Given the description of an element on the screen output the (x, y) to click on. 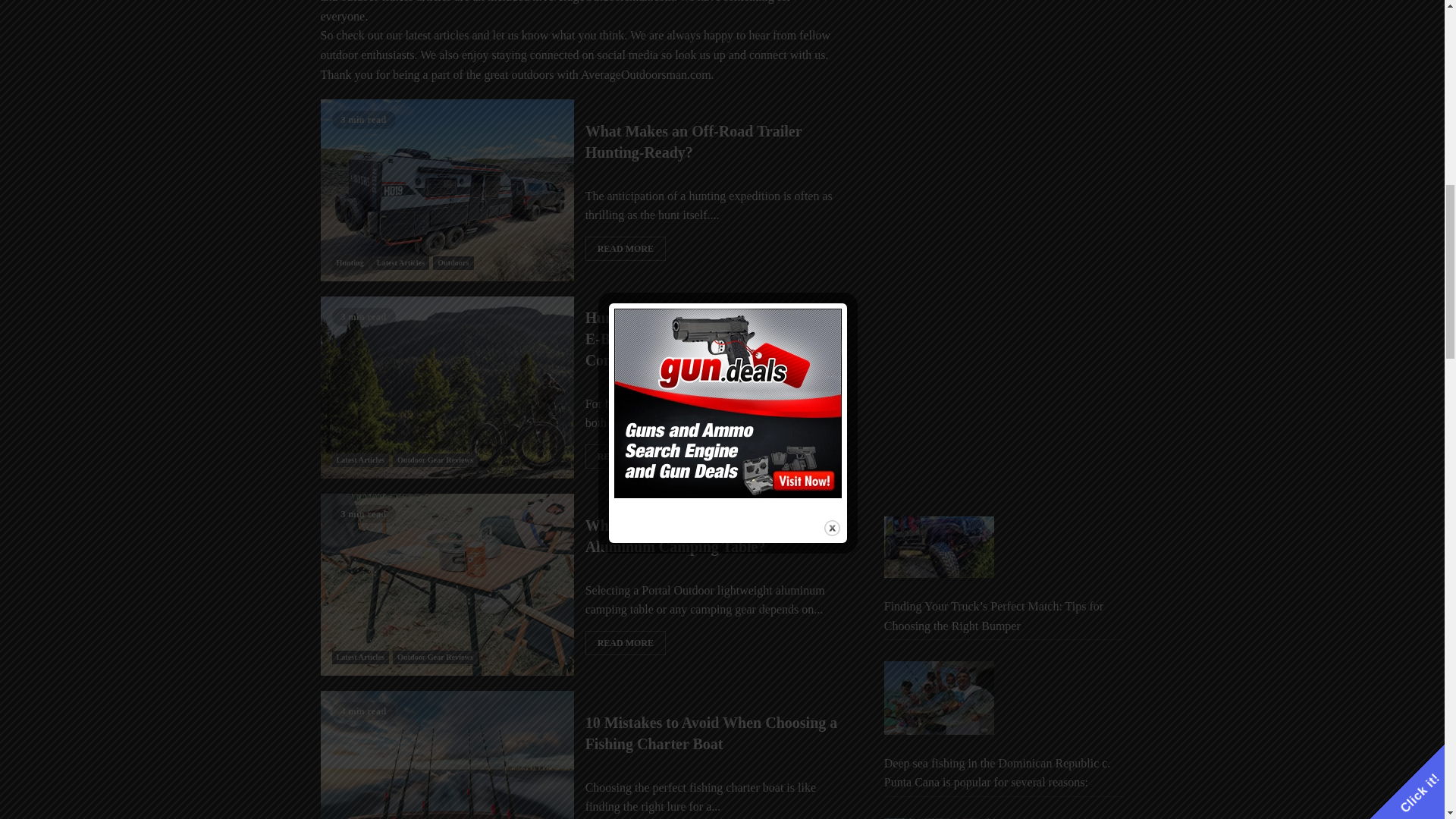
Outdoor Gear Reviews (435, 657)
Hunting (349, 263)
Latest Articles (359, 459)
Why Choose Portal Outdoor Aluminum Camping Table? (678, 536)
Outdoor Gear Reviews (435, 459)
Outdoors (452, 263)
READ MORE (625, 456)
Latest Articles (359, 657)
What Makes an Off-Road Trailer Hunting-Ready? (693, 141)
READ MORE (625, 642)
Latest Articles (400, 263)
READ MORE (625, 248)
